Given the description of an element on the screen output the (x, y) to click on. 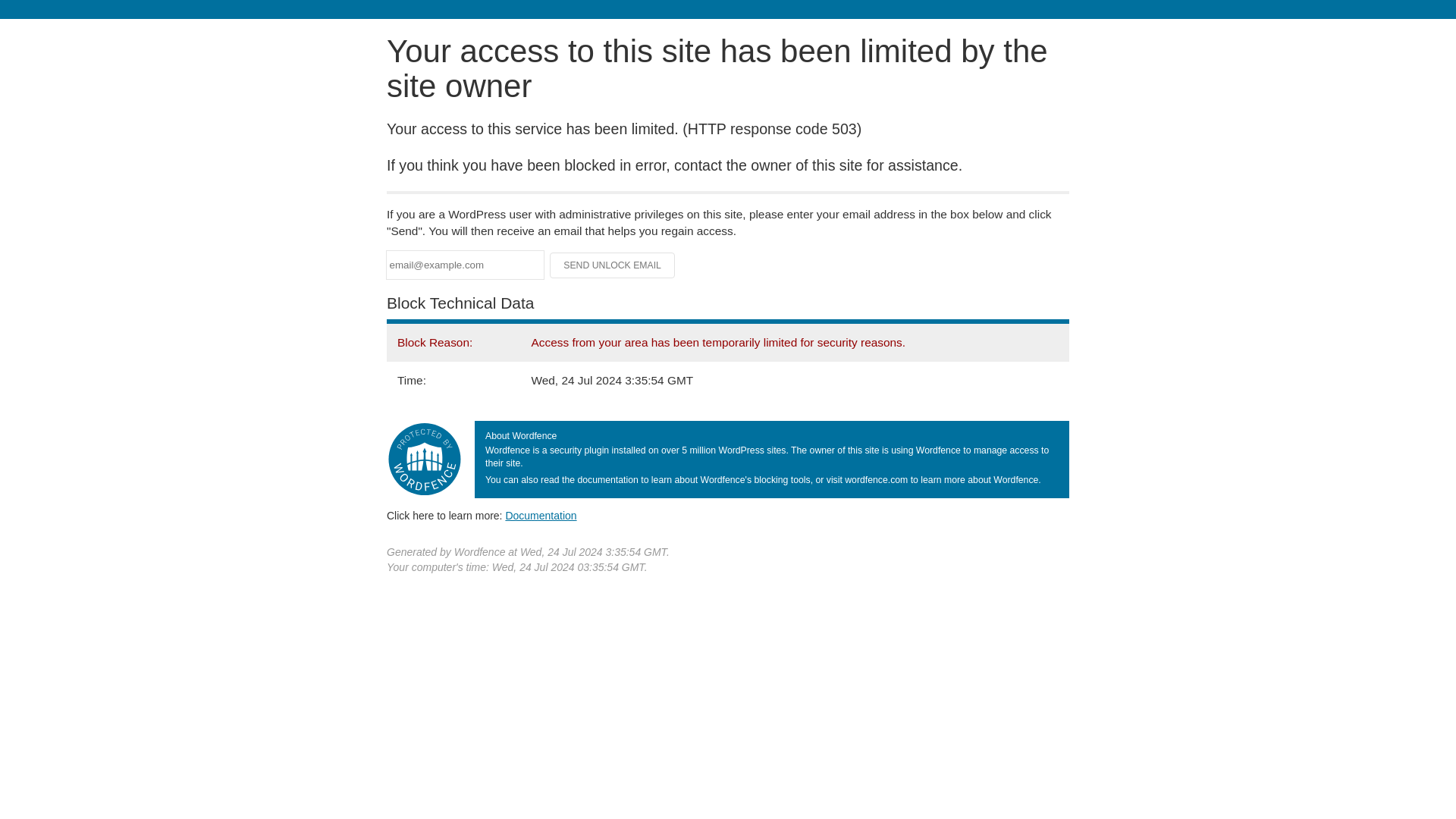
Send Unlock Email (612, 265)
Documentation (540, 515)
Send Unlock Email (612, 265)
